Given the description of an element on the screen output the (x, y) to click on. 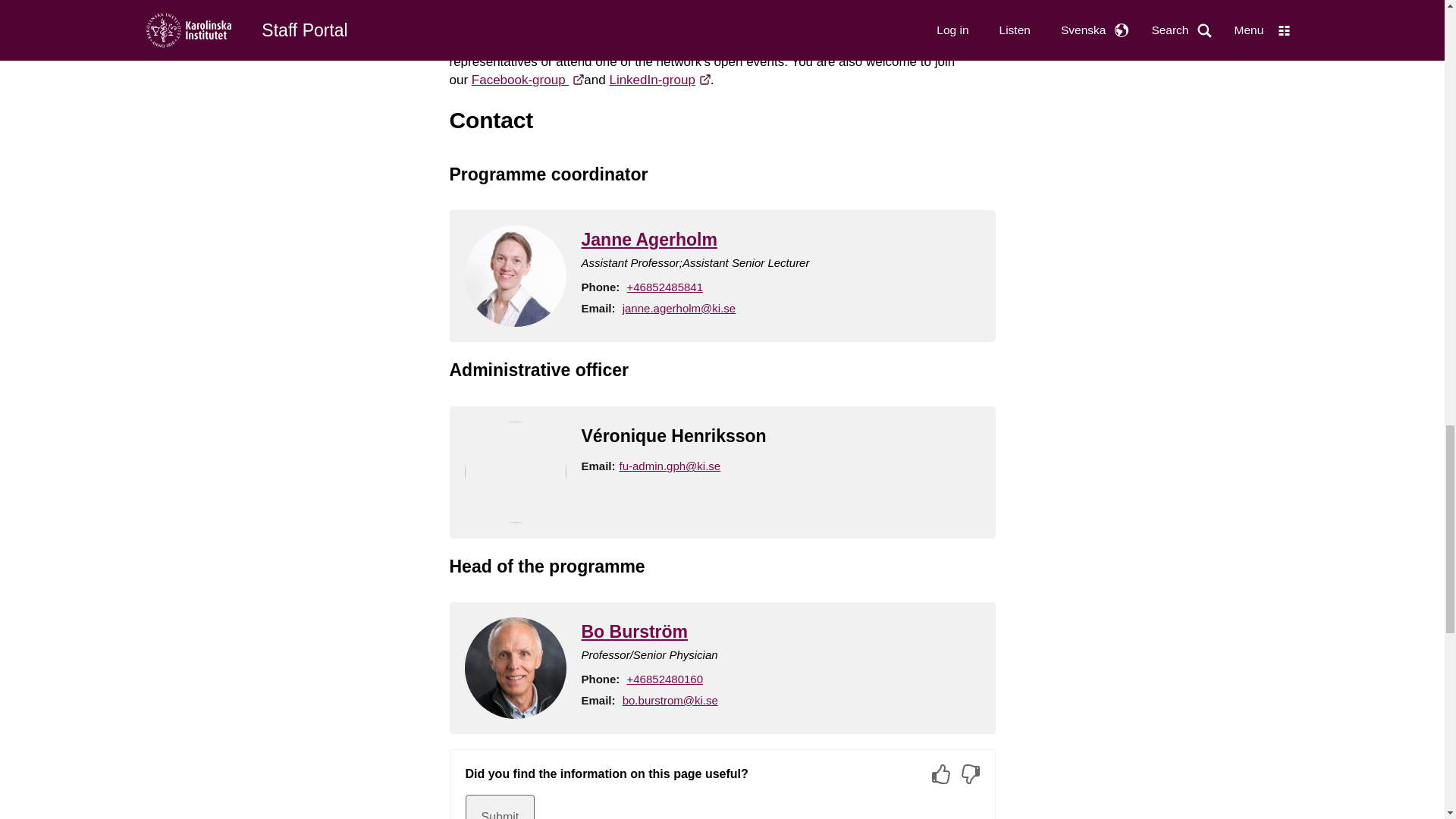
LinkedIn-group (659, 79)
Submit (500, 806)
Submit (500, 806)
Janne Agerholm (648, 239)
Facebook-group (528, 79)
